Given the description of an element on the screen output the (x, y) to click on. 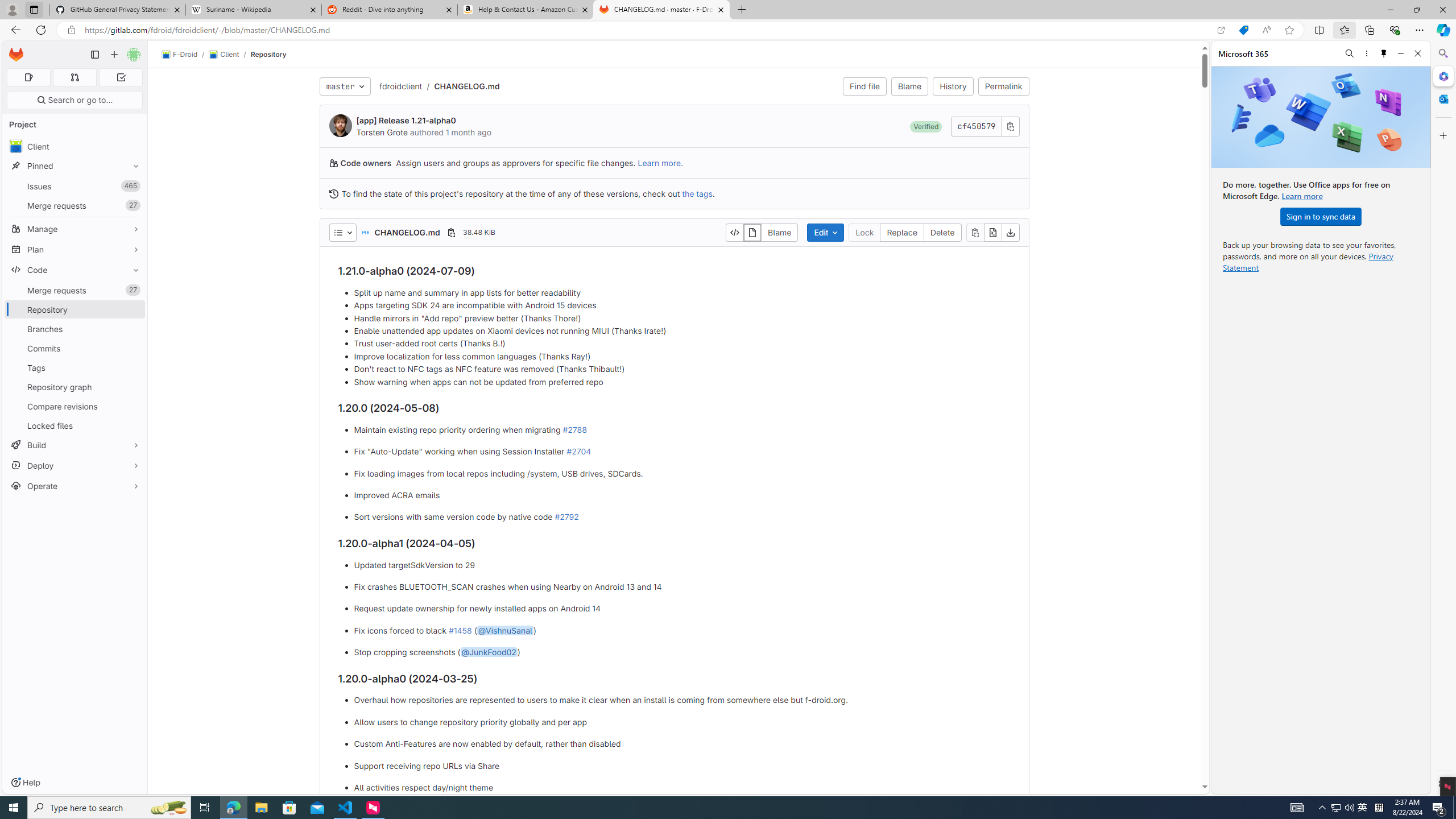
Blame (779, 232)
Deploy (74, 465)
Edit (825, 232)
Plan (74, 248)
CHANGELOG.md (466, 85)
Pin Branches (132, 328)
Locked files (74, 425)
Operate (74, 485)
Code (74, 269)
